Given the description of an element on the screen output the (x, y) to click on. 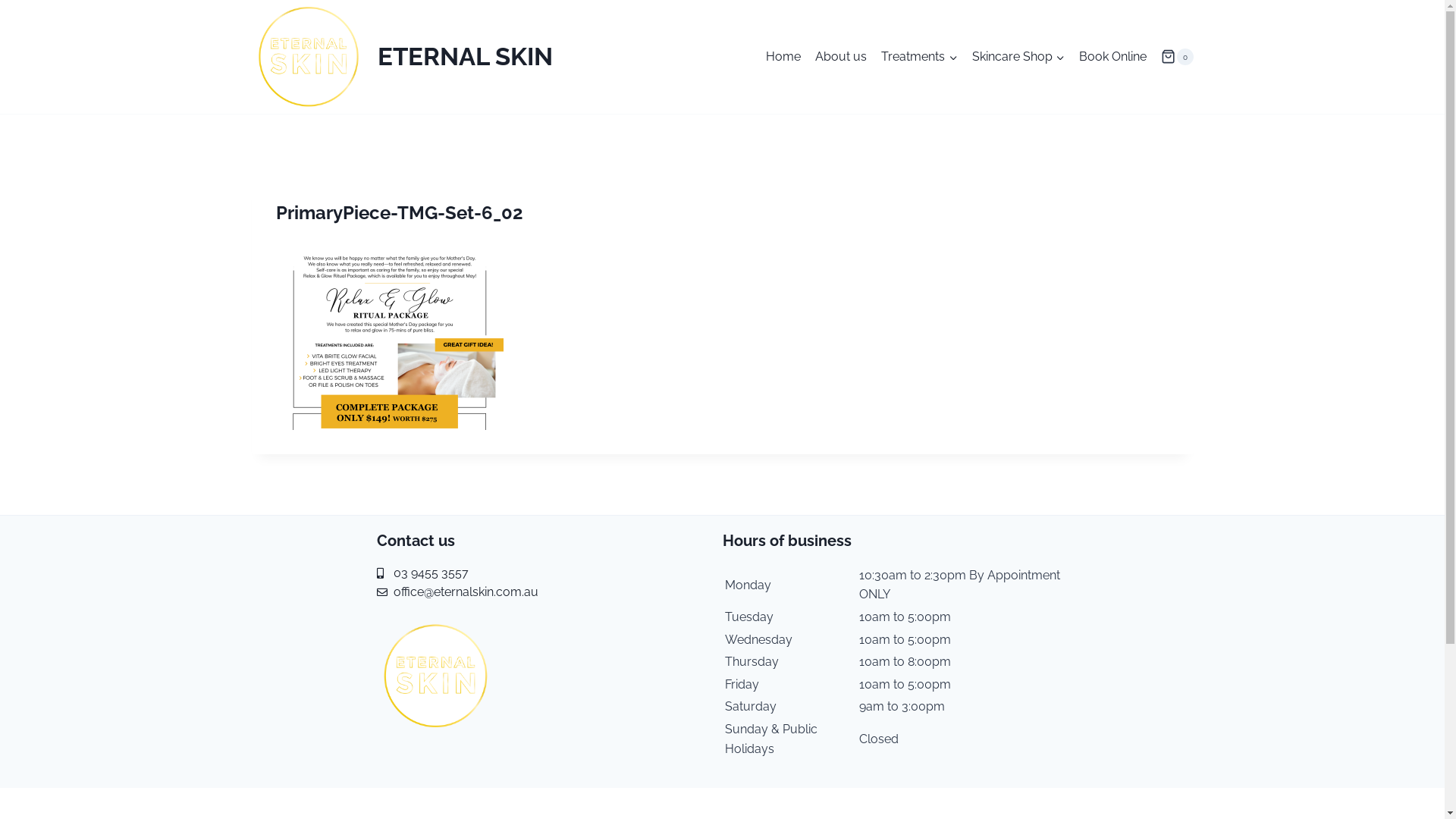
Skincare Shop Element type: text (1017, 57)
Treatments Element type: text (919, 57)
03 9455 3557 Element type: text (548, 573)
ETERNAL SKIN Element type: text (401, 56)
About us Element type: text (841, 57)
Book Online Element type: text (1112, 57)
0 Element type: text (1176, 56)
Home Element type: text (783, 57)
office@eternalskin.com.au Element type: text (548, 592)
